Given the description of an element on the screen output the (x, y) to click on. 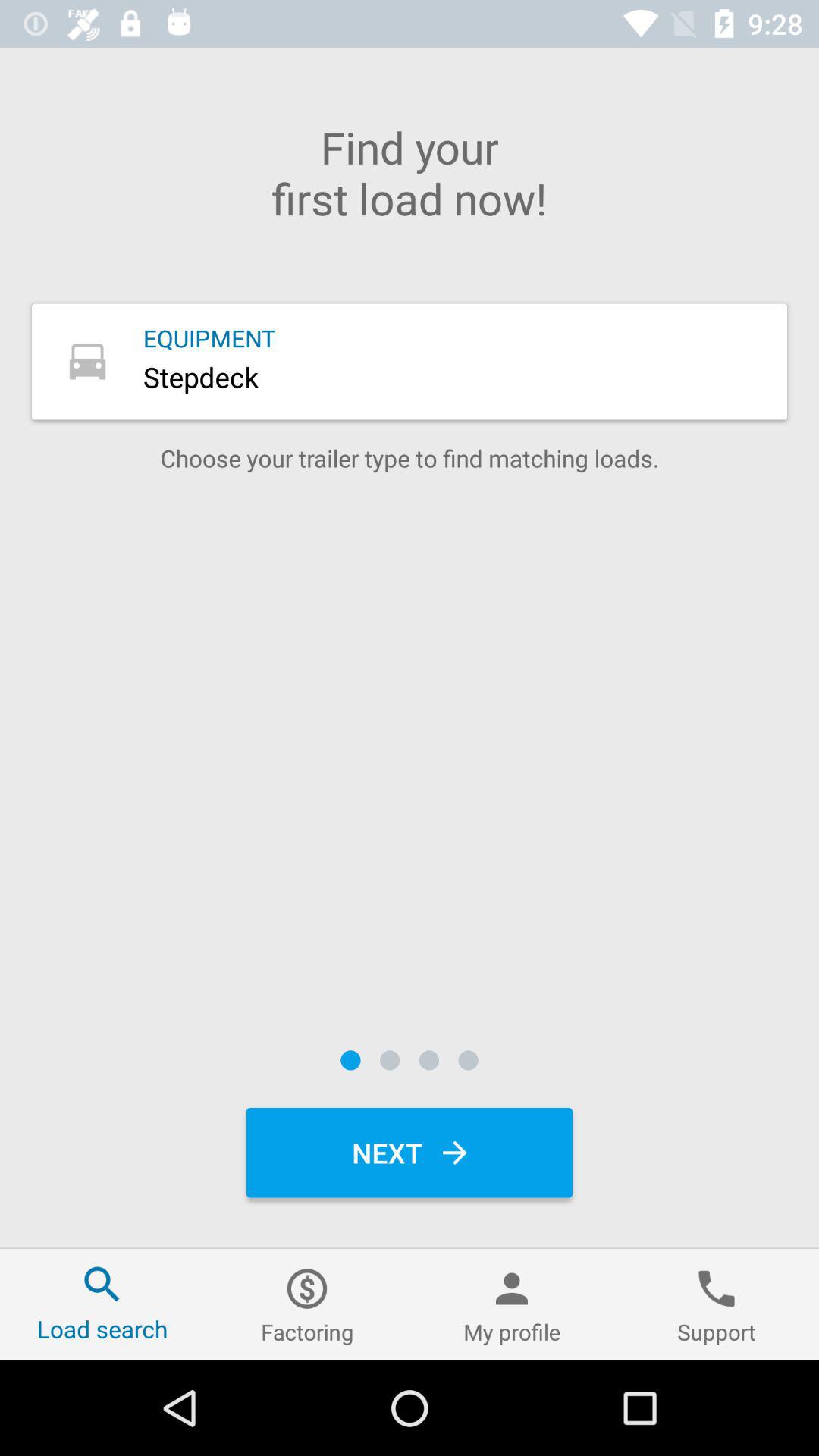
tap the support item (716, 1304)
